Given the description of an element on the screen output the (x, y) to click on. 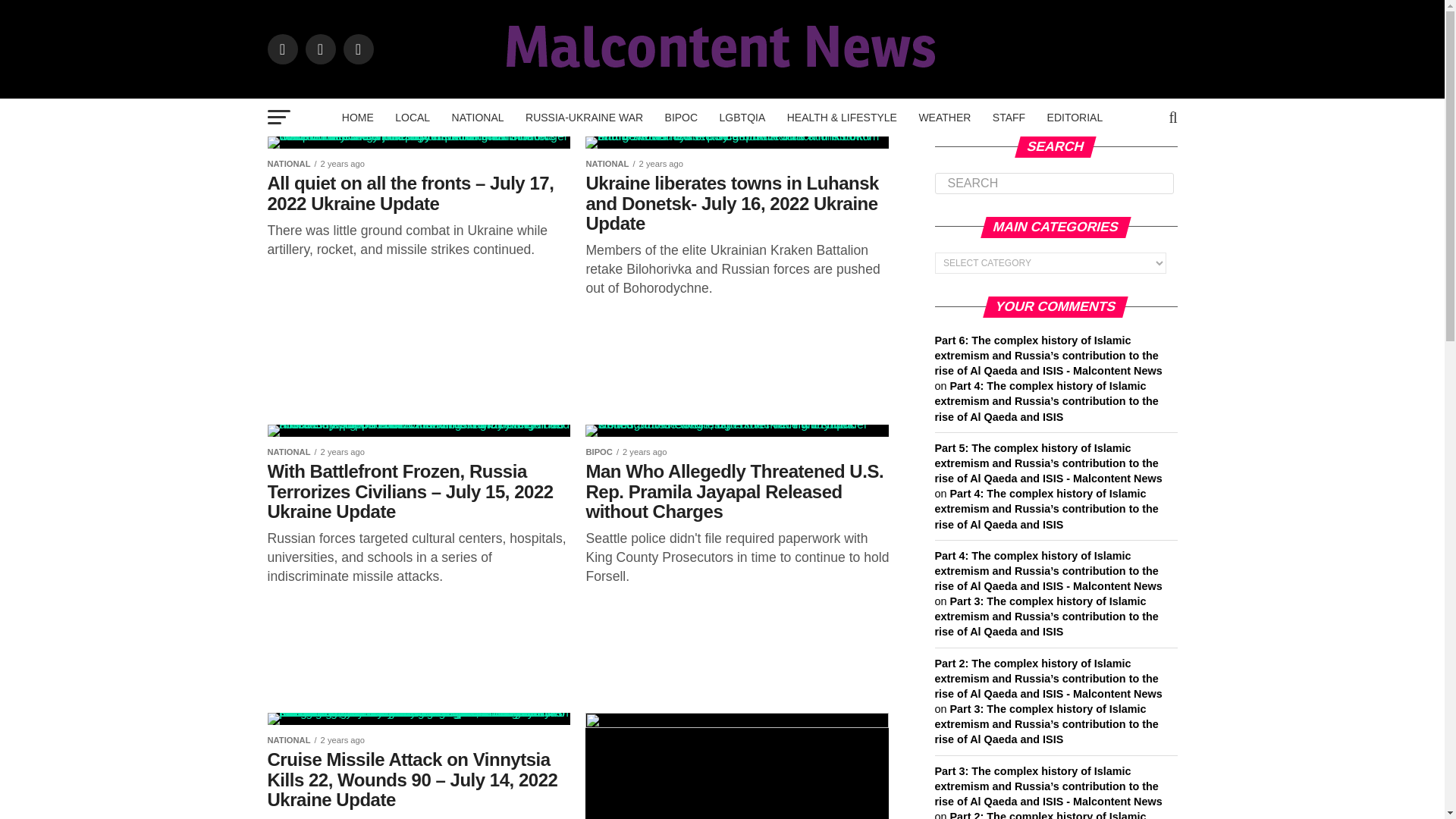
NATIONAL (477, 117)
RUSSIA-UKRAINE WAR (584, 117)
LOCAL (412, 117)
HOME (357, 117)
Search (1053, 183)
